Given the description of an element on the screen output the (x, y) to click on. 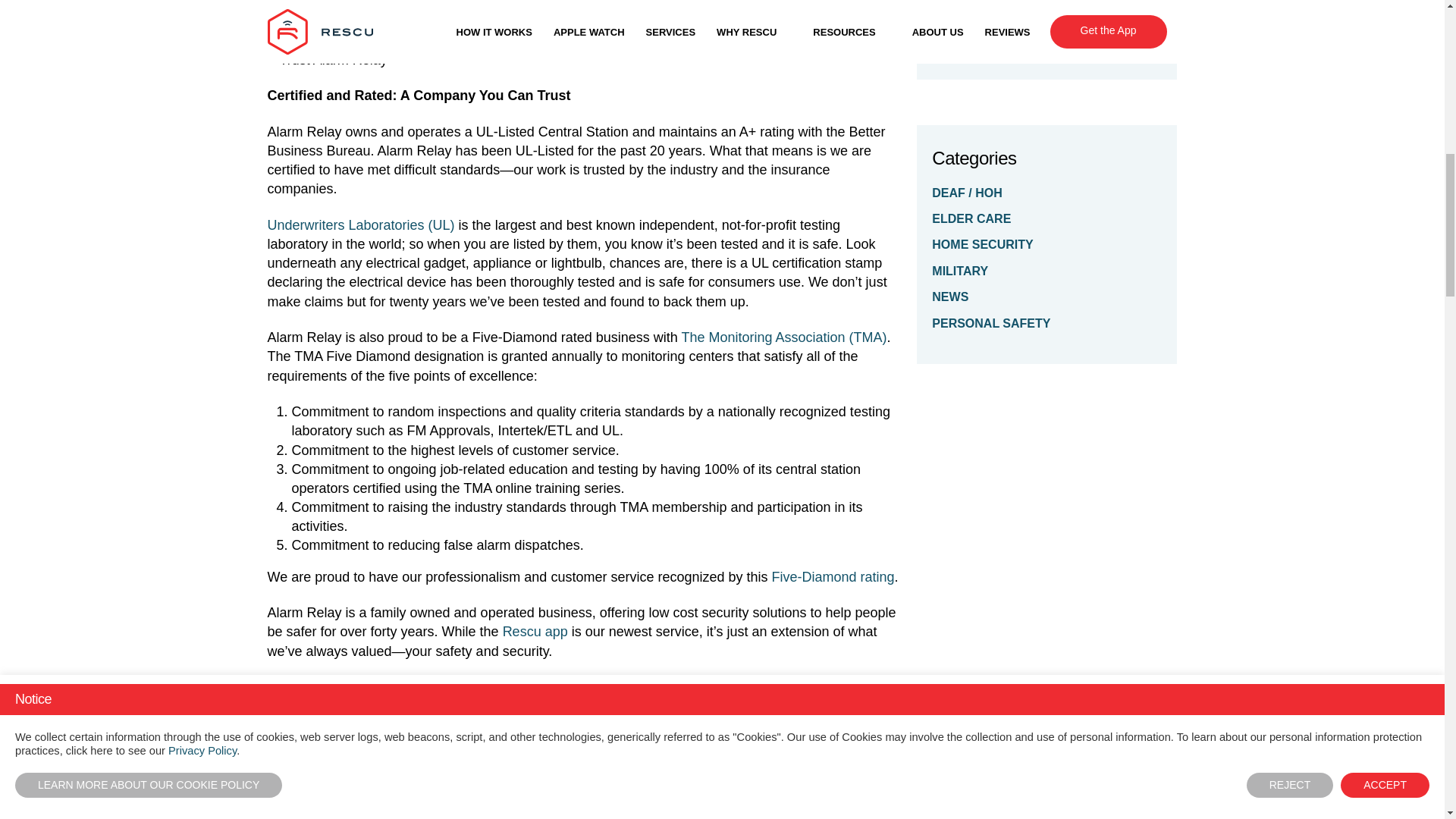
NEWS (1046, 297)
The Rescu Story (992, 7)
Rescu app (534, 631)
Five-Diamond rating (833, 576)
Read More (977, 31)
PERSONAL SAFETY (1046, 323)
HOME SECURITY (1046, 244)
The Rescu Story (977, 31)
protect people and their properties (548, 5)
The Rescu Story (992, 7)
MILITARY (1046, 271)
ELDER CARE (1046, 218)
